Given the description of an element on the screen output the (x, y) to click on. 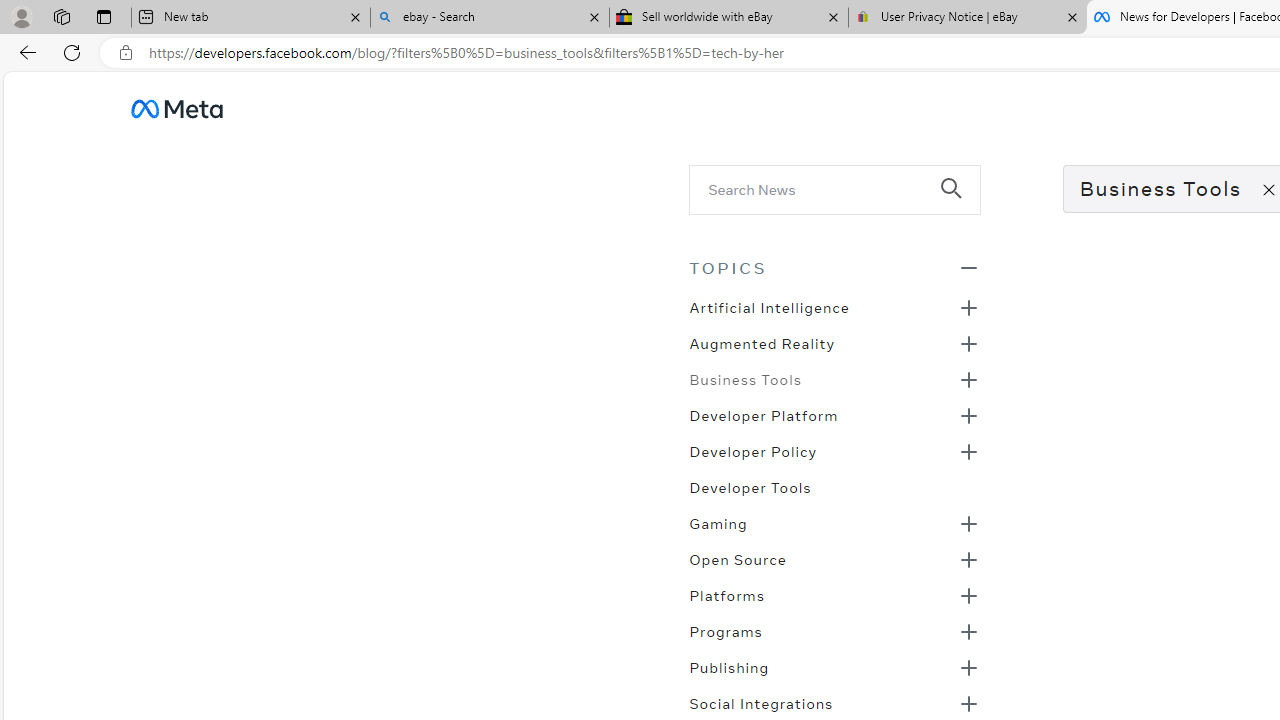
Class: _58al (820, 188)
Programs (725, 629)
Class: _98ce (959, 201)
Developer Platform (763, 413)
Class: _98ex _98ez (834, 673)
Gaming (717, 521)
User Privacy Notice | eBay (967, 17)
Developer Policy (752, 449)
Class: _98ex (834, 493)
Open Source (737, 557)
Social Integrations (761, 701)
